Given the description of an element on the screen output the (x, y) to click on. 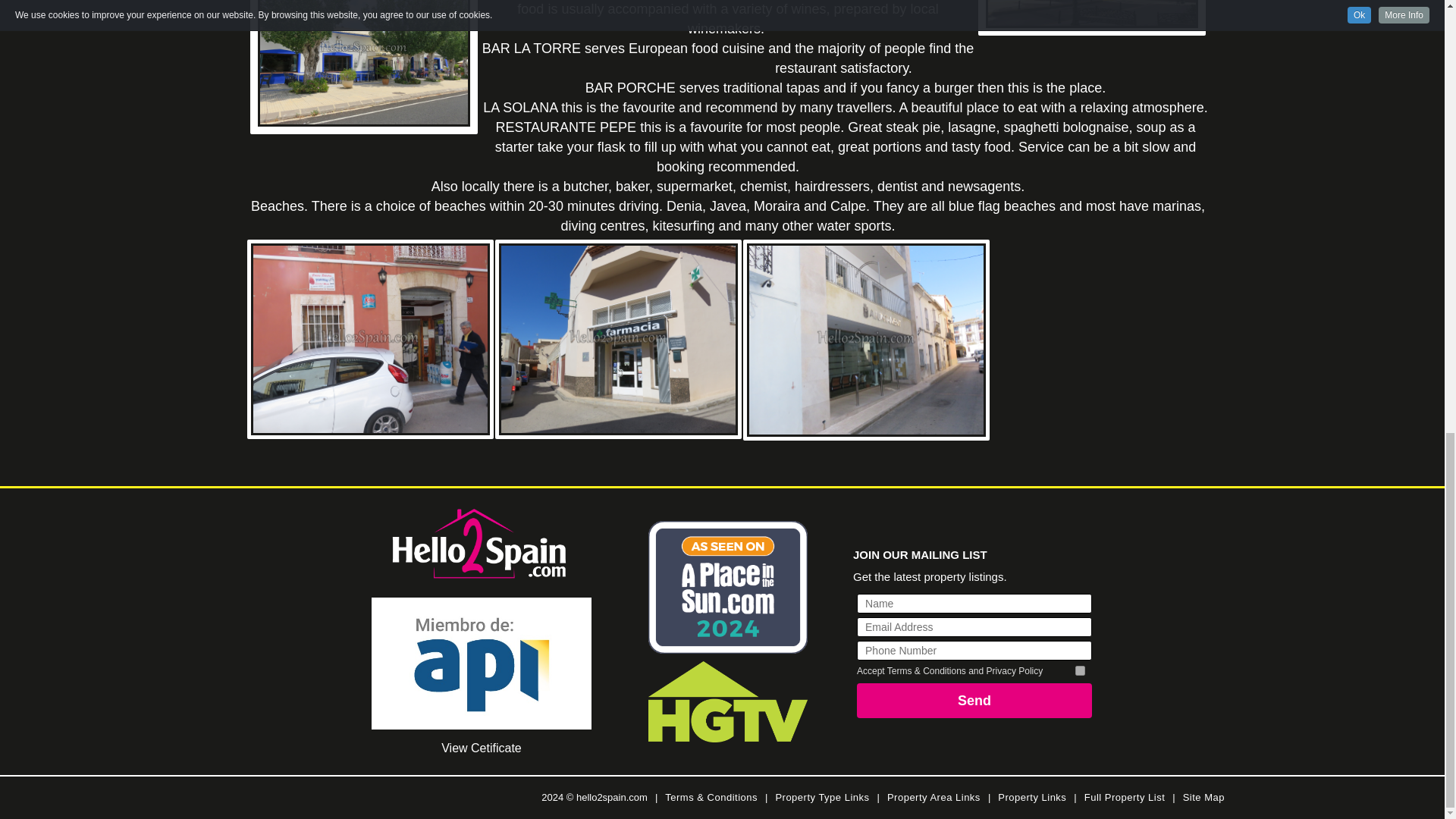
Hello2Spain (481, 545)
1 (1080, 670)
A Place in The Sun - Hello2Spain (727, 586)
HGTV - Hello2Spain (727, 701)
Hello2Spain Miembro de API (481, 663)
